Given the description of an element on the screen output the (x, y) to click on. 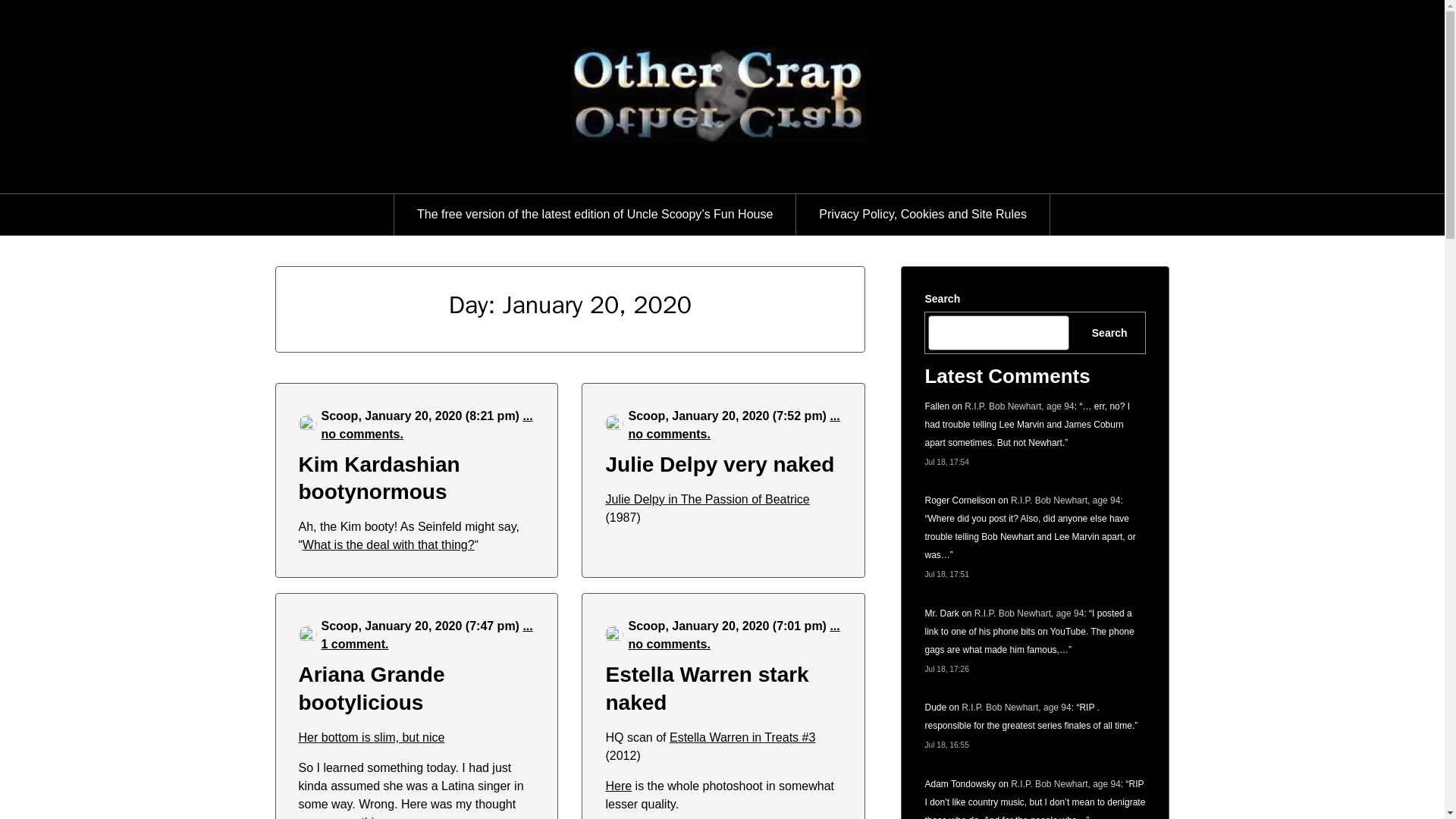
Here (618, 785)
... no comments. (733, 634)
... no comments. (733, 424)
... no comments. (426, 424)
What is the deal with that thing? (388, 544)
Estella Warren stark naked (706, 687)
Julie Delpy in The Passion of Beatrice (707, 499)
Julie Delpy very naked (719, 463)
Her bottom is slim, but nice (371, 737)
Privacy Policy, Cookies and Site Rules (922, 214)
... 1 comment. (426, 634)
Kim Kardashian bootynormous (379, 477)
Ariana Grande bootylicious (371, 687)
